Given the description of an element on the screen output the (x, y) to click on. 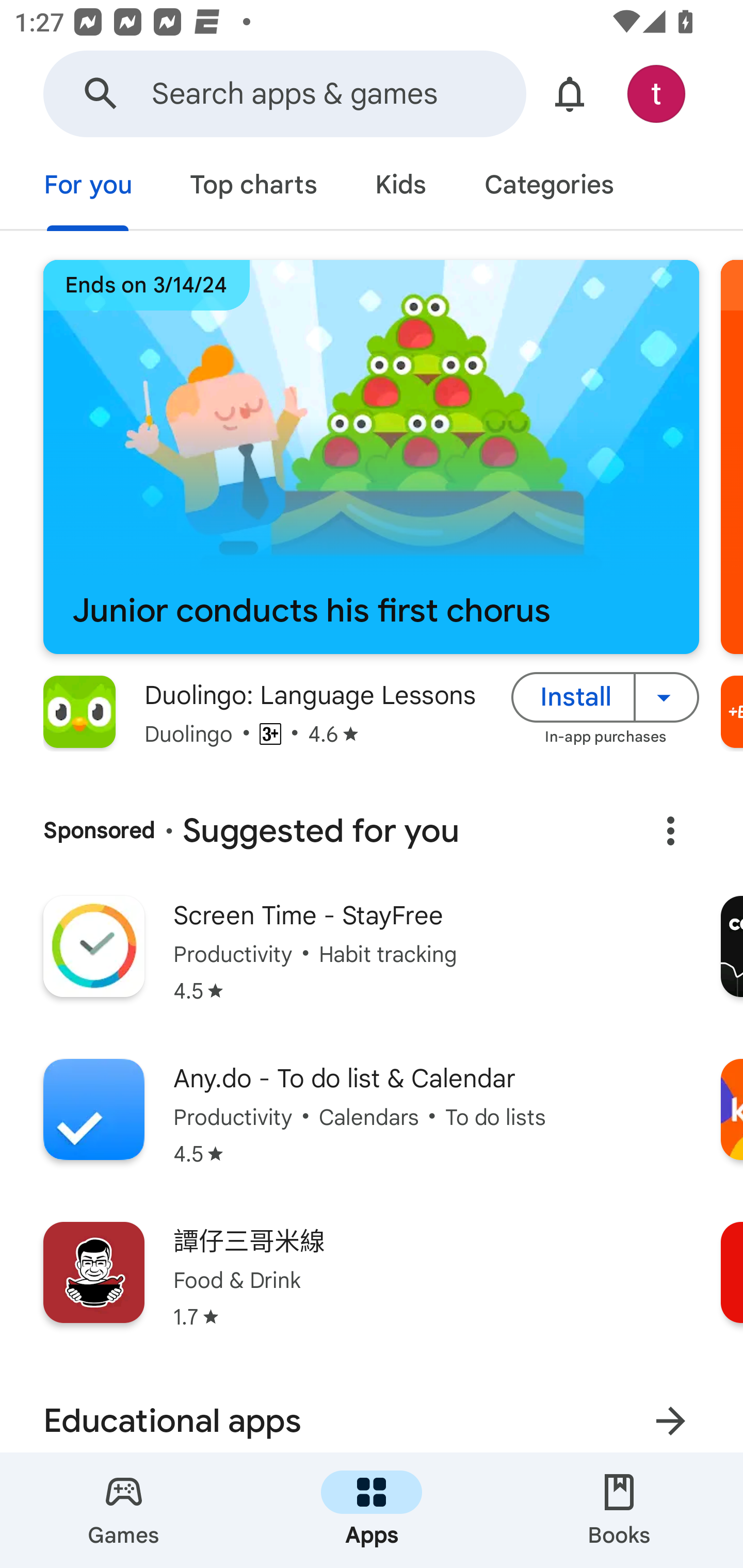
Search Google Play Search apps & games (284, 93)
Search Google Play (100, 93)
Show notifications and offers. (569, 93)
Top charts (253, 187)
Kids (400, 187)
Categories (548, 187)
Junior conducts his first chorus Ends on 3/14/24 (371, 456)
Install Install Install on more devices (605, 696)
Install on more devices (666, 696)
About this ad (670, 830)
譚仔三哥米線
Food & Drink
Star rating: 1.7
 (371, 1288)
Educational apps More results for Educational apps (371, 1410)
More results for Educational apps (670, 1414)
Games (123, 1509)
Books (619, 1509)
